Given the description of an element on the screen output the (x, y) to click on. 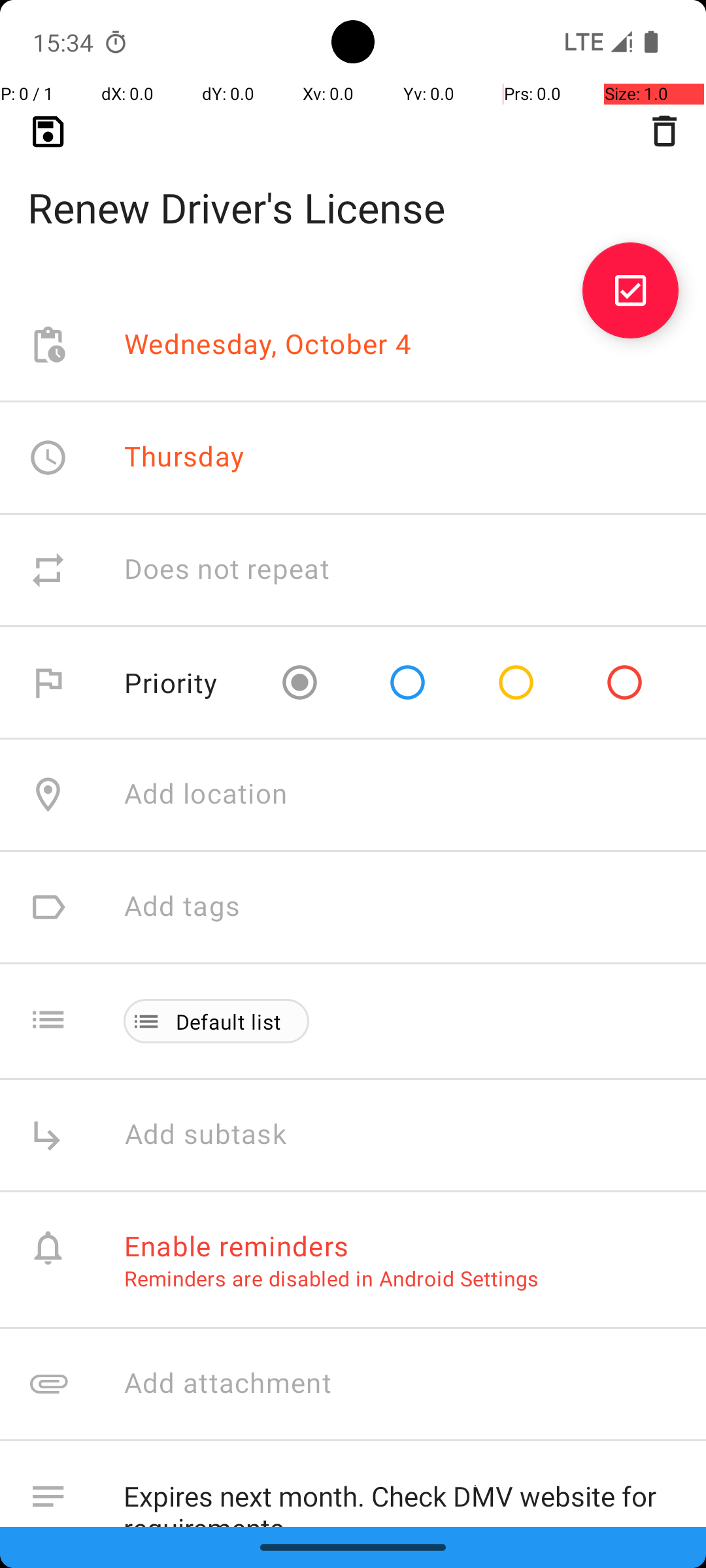
Expires next month. Check DMV website for requirements. Element type: android.widget.EditText (400, 1493)
Wednesday, October 4 Element type: android.widget.TextView (267, 344)
